Given the description of an element on the screen output the (x, y) to click on. 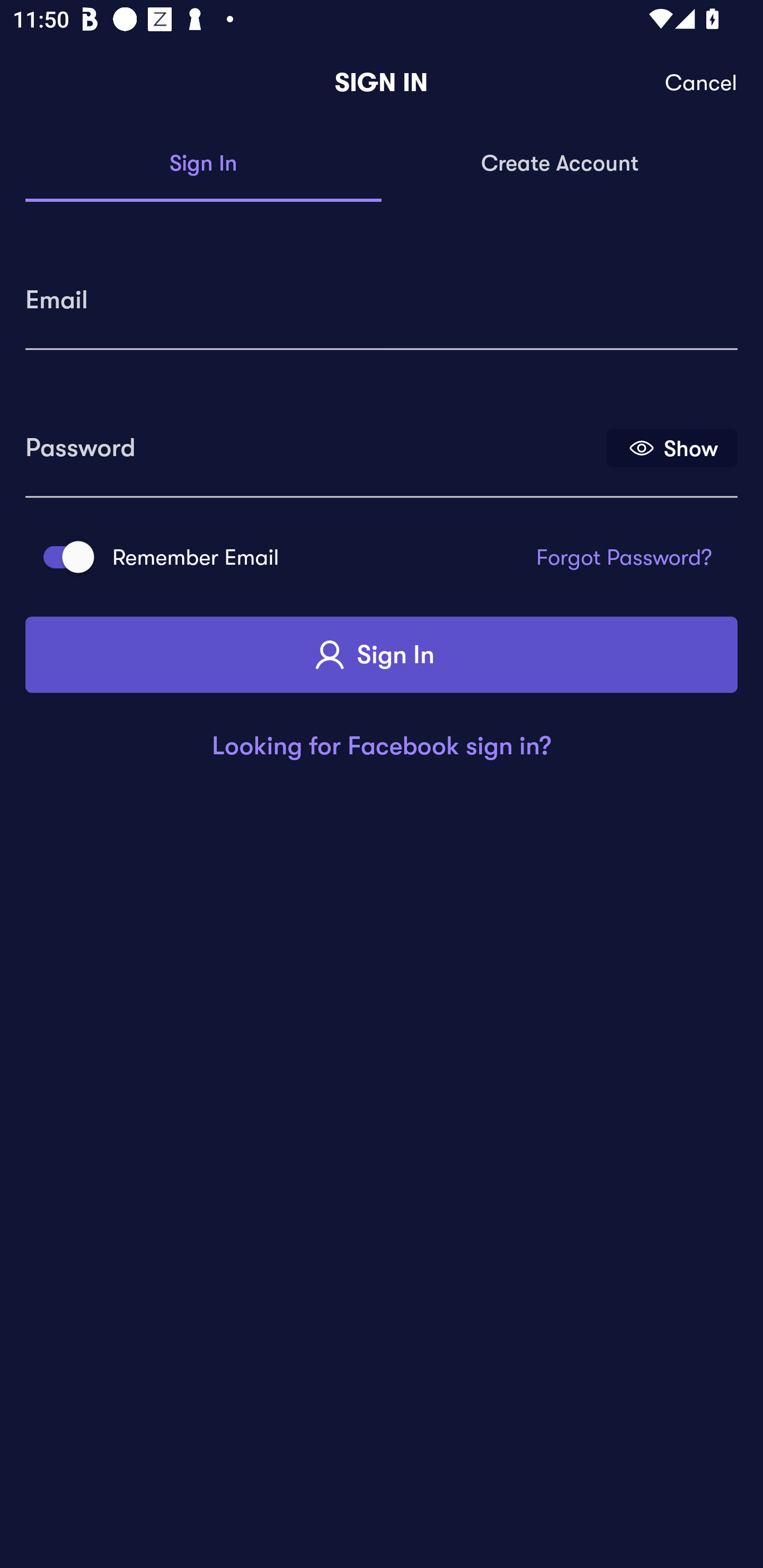
Cancel (701, 82)
Sign In (203, 164)
Create Account (559, 164)
Email (381, 293)
Password (314, 441)
Show Password Show (671, 447)
Remember Email (62, 557)
Sign In (381, 654)
